Given the description of an element on the screen output the (x, y) to click on. 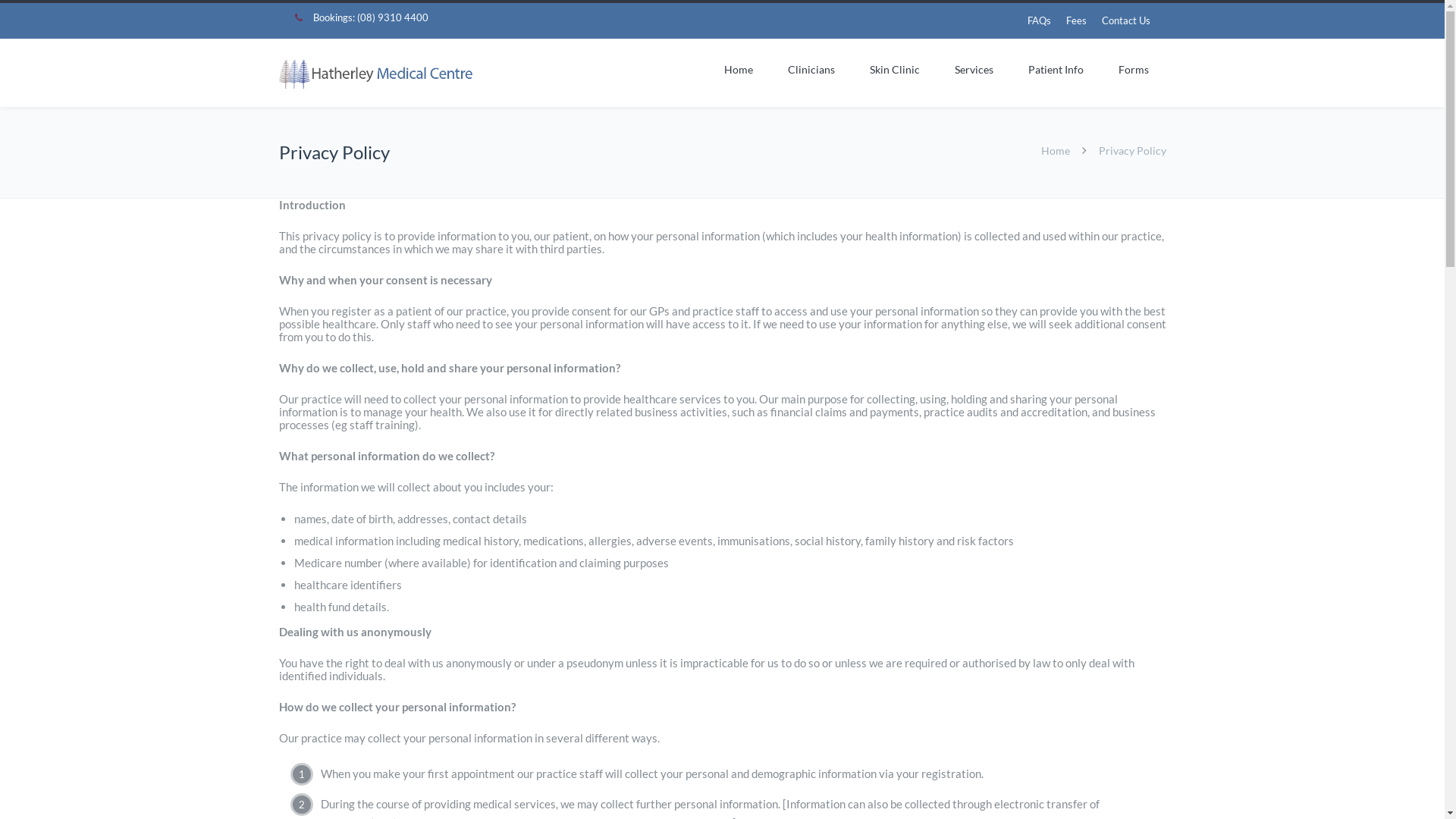
FAQs Element type: text (1038, 20)
Services Element type: text (973, 69)
Home Element type: text (1054, 150)
Contact Us Element type: text (1125, 20)
Hatherley Medical Centre Element type: hover (375, 73)
Skin Clinic Element type: text (894, 69)
Fees Element type: text (1076, 20)
Patient Info Element type: text (1055, 69)
Forms Element type: text (1133, 69)
Clinicians Element type: text (811, 69)
Home Element type: text (738, 69)
